Given the description of an element on the screen output the (x, y) to click on. 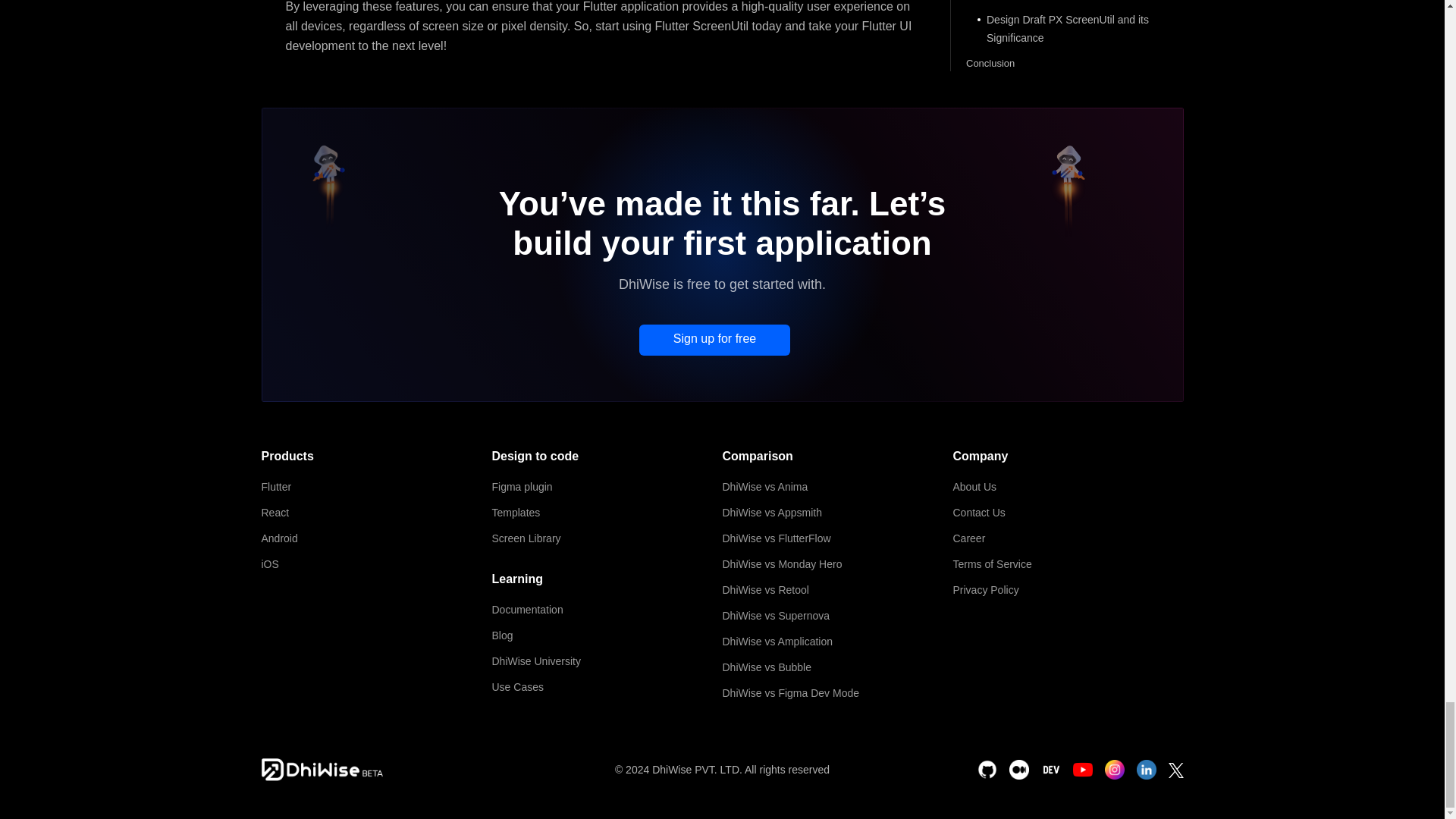
Figma plugin (607, 486)
DhiWise University (607, 660)
React (376, 512)
Templates (607, 512)
Blog (607, 635)
iOS (376, 564)
Documentation (607, 609)
Android (376, 538)
Sign up for free (714, 339)
Flutter (376, 486)
Screen Library (607, 538)
